Given the description of an element on the screen output the (x, y) to click on. 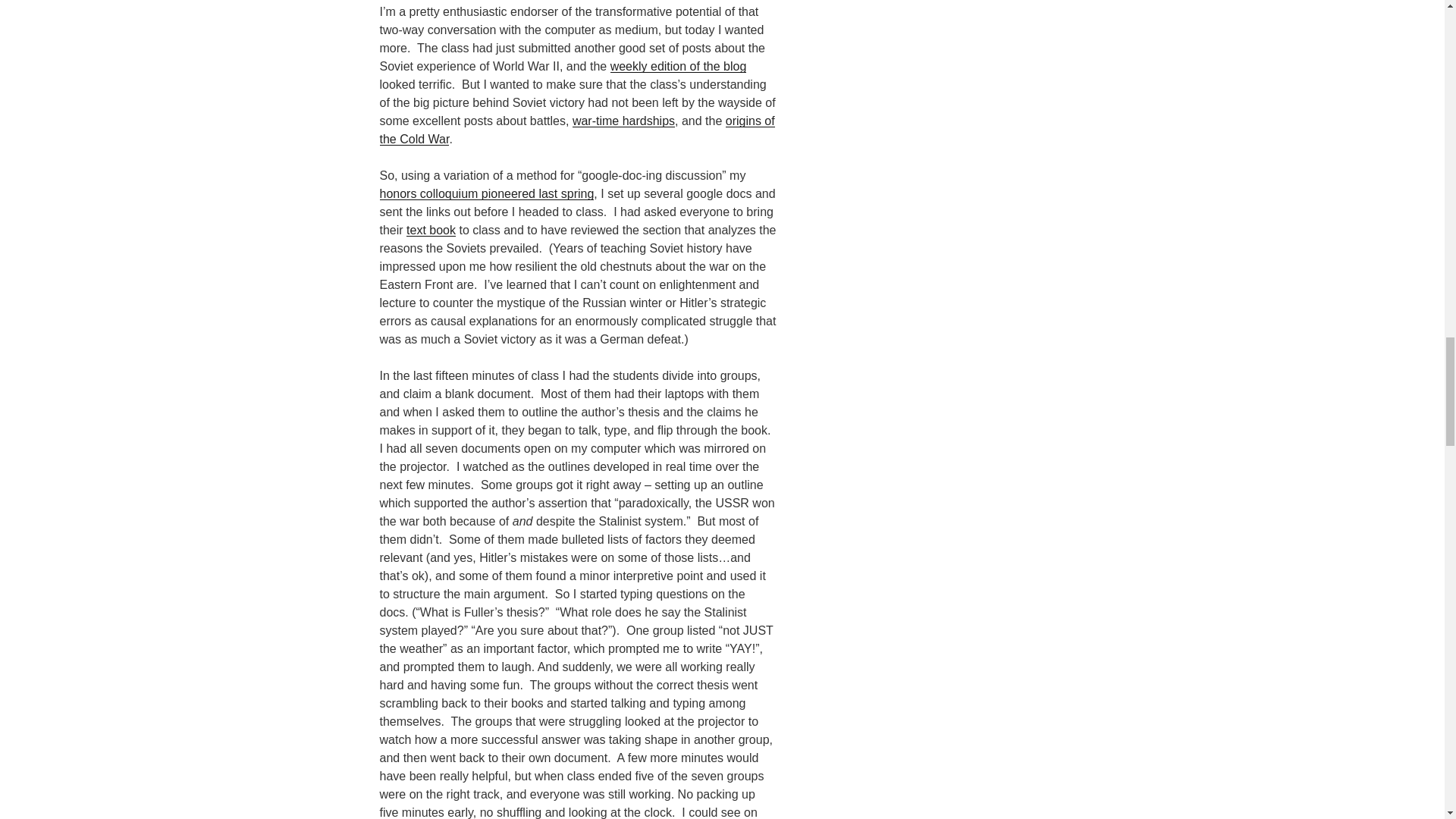
war-time hardships (623, 120)
text book (430, 229)
Freeze, ed. Russia, A History (430, 229)
origins of the Cold War (576, 129)
Deep History and Domestication - Discussion Notes (486, 193)
weekly edition of the blog (678, 65)
honors colloquium pioneered last spring (486, 193)
Hunger, Desperation and Death - Blokada of Leningrad (623, 120)
The Iron Curtain Descends (576, 129)
